Given the description of an element on the screen output the (x, y) to click on. 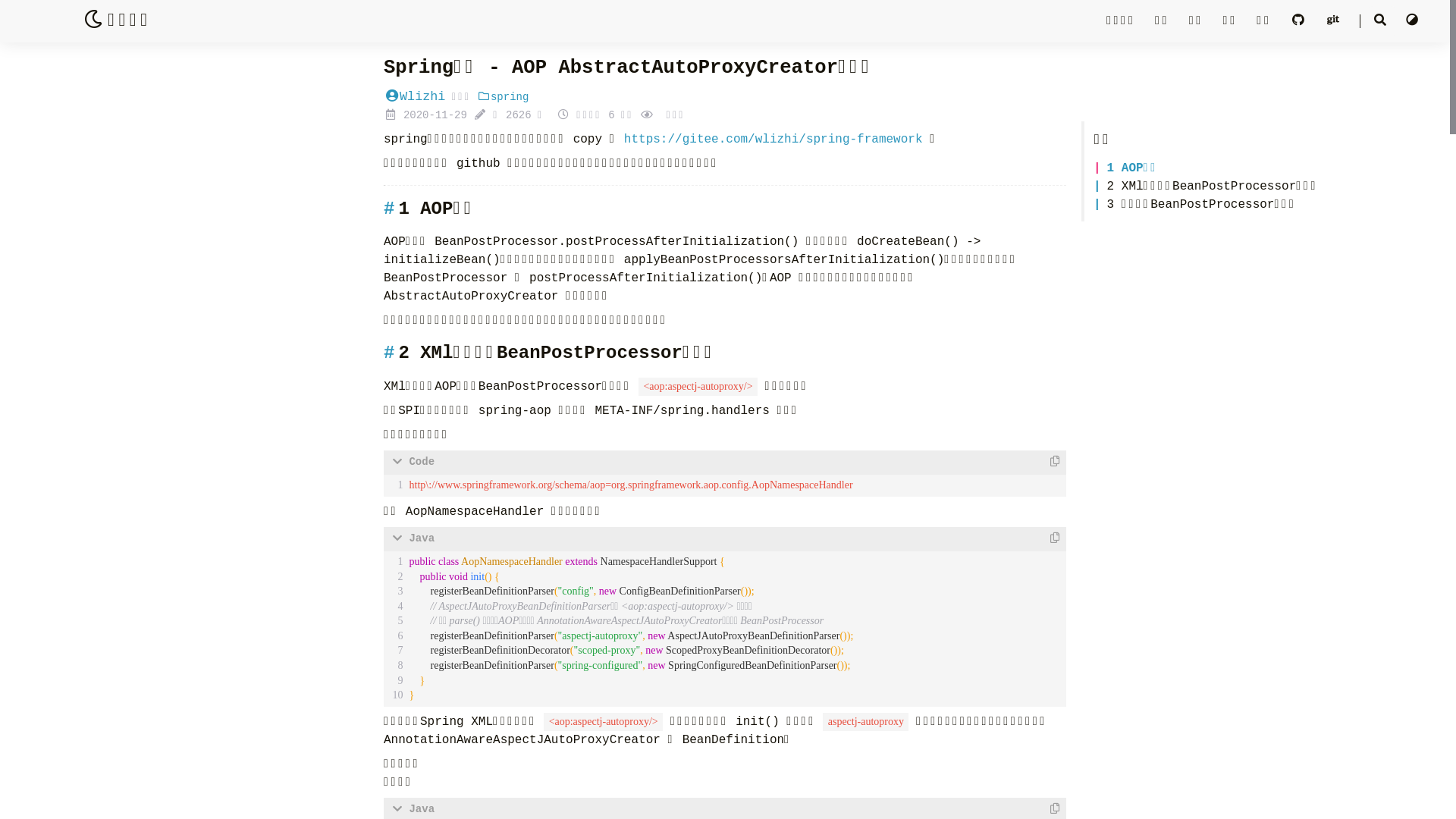
spring Element type: text (502, 97)
https://gitee.com/wlizhi/spring-framework Element type: text (773, 139)
Wlizhi Element type: text (414, 96)
GitHub Element type: hover (1301, 21)
Gitee Element type: hover (1336, 21)
